Given the description of an element on the screen output the (x, y) to click on. 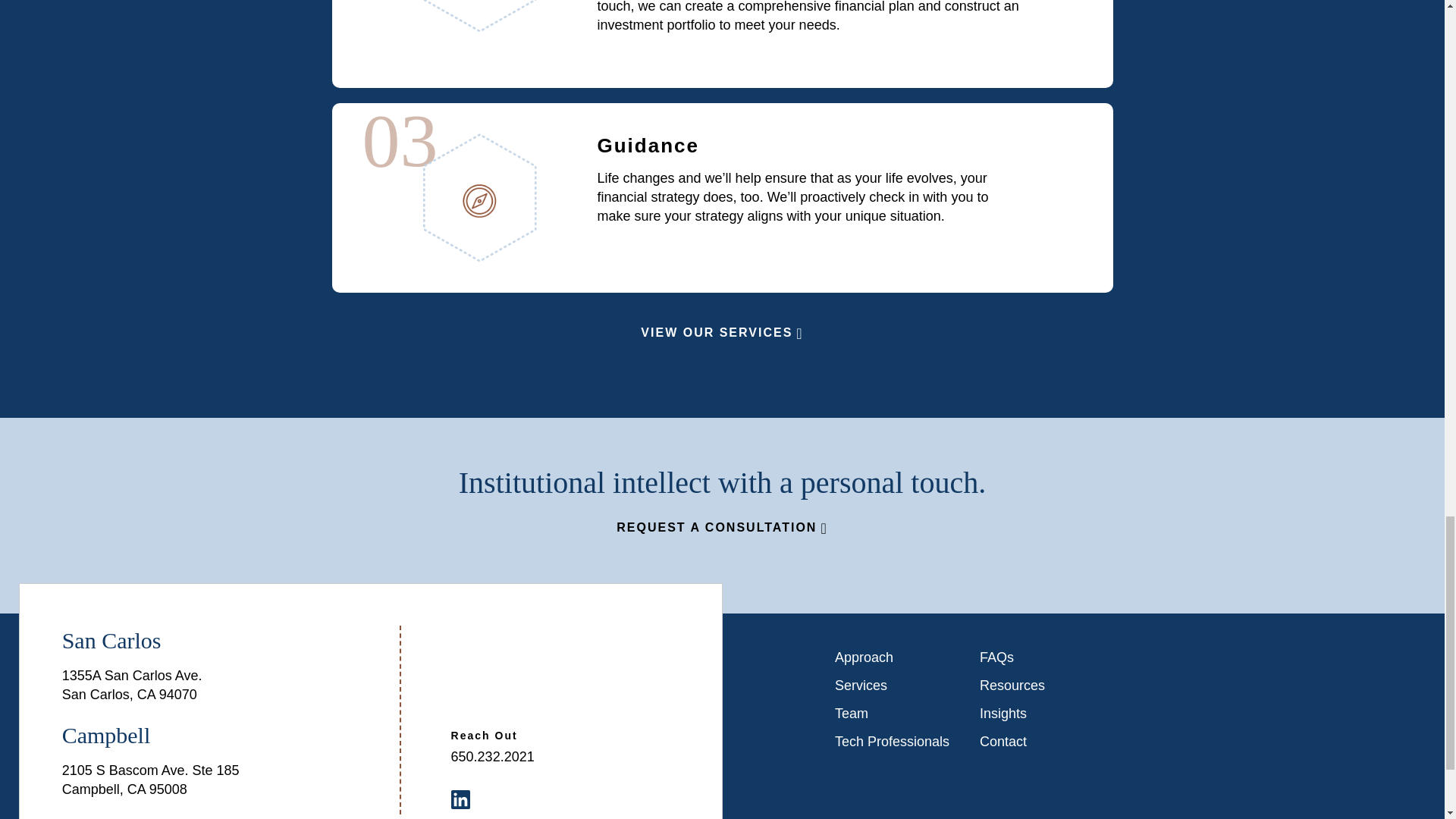
Services (891, 685)
FAQs (1036, 656)
Tech Professionals (891, 741)
Insights (1036, 713)
Resources (1036, 685)
Approach (891, 656)
Contact (1036, 741)
VIEW OUR SERVICES (721, 332)
REQUEST A CONSULTATION (721, 526)
Team (891, 713)
